Given the description of an element on the screen output the (x, y) to click on. 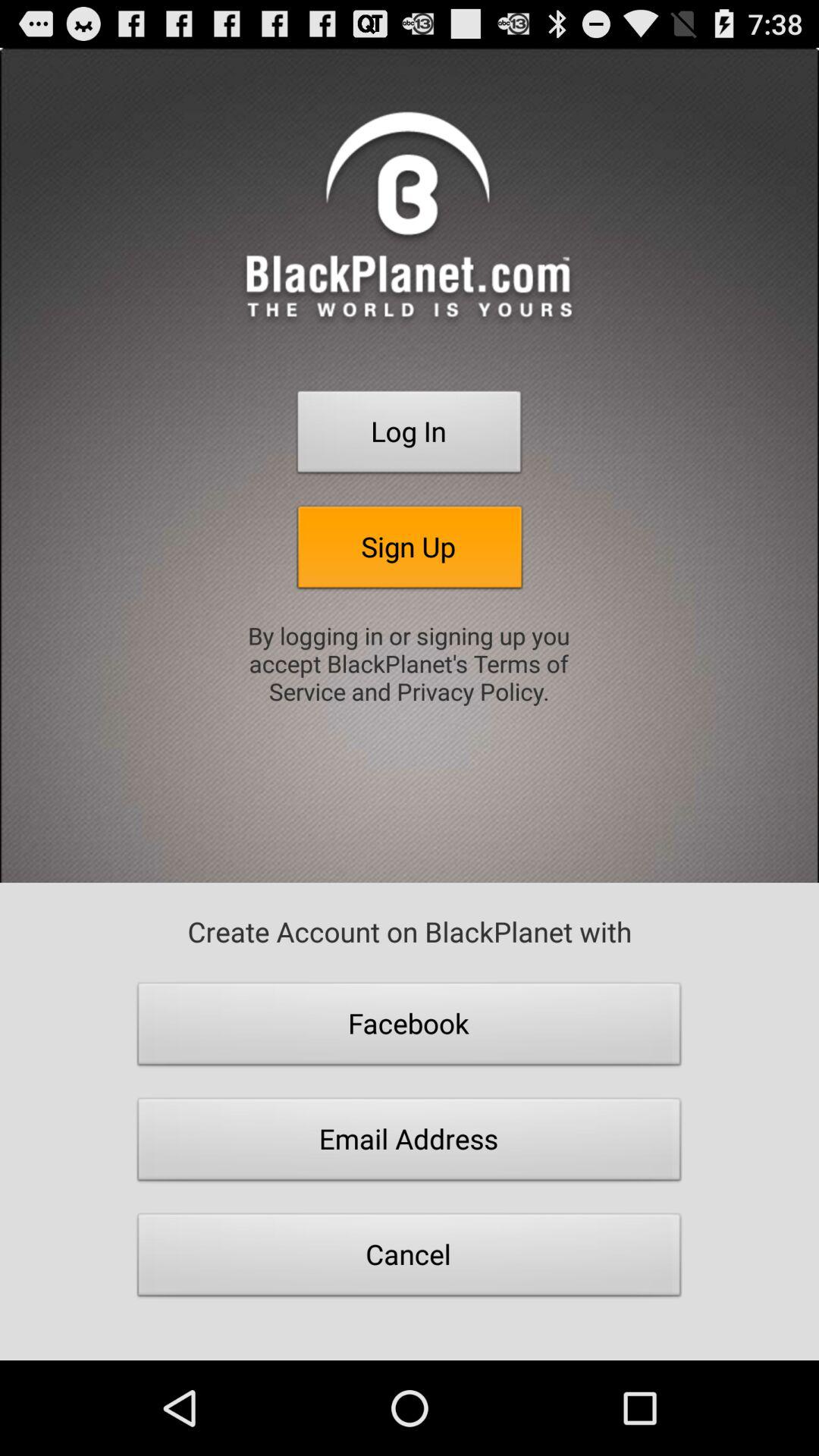
press button above sign up item (409, 436)
